Given the description of an element on the screen output the (x, y) to click on. 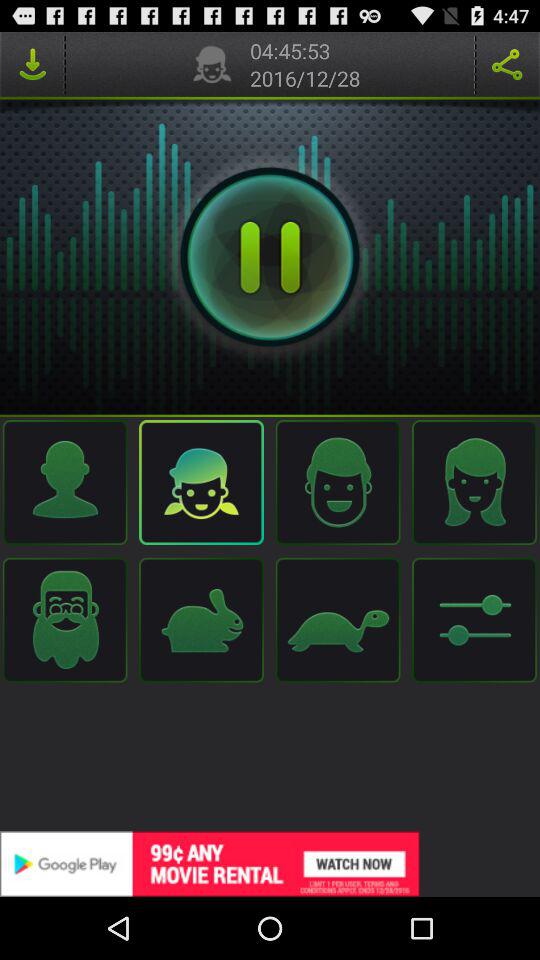
select the rabbit image o the web page (201, 620)
click on fourth box in first row from left side (474, 482)
select the third pic under the pause button (337, 482)
click on the left corner image which is beside of the turtle image (474, 620)
